Given the description of an element on the screen output the (x, y) to click on. 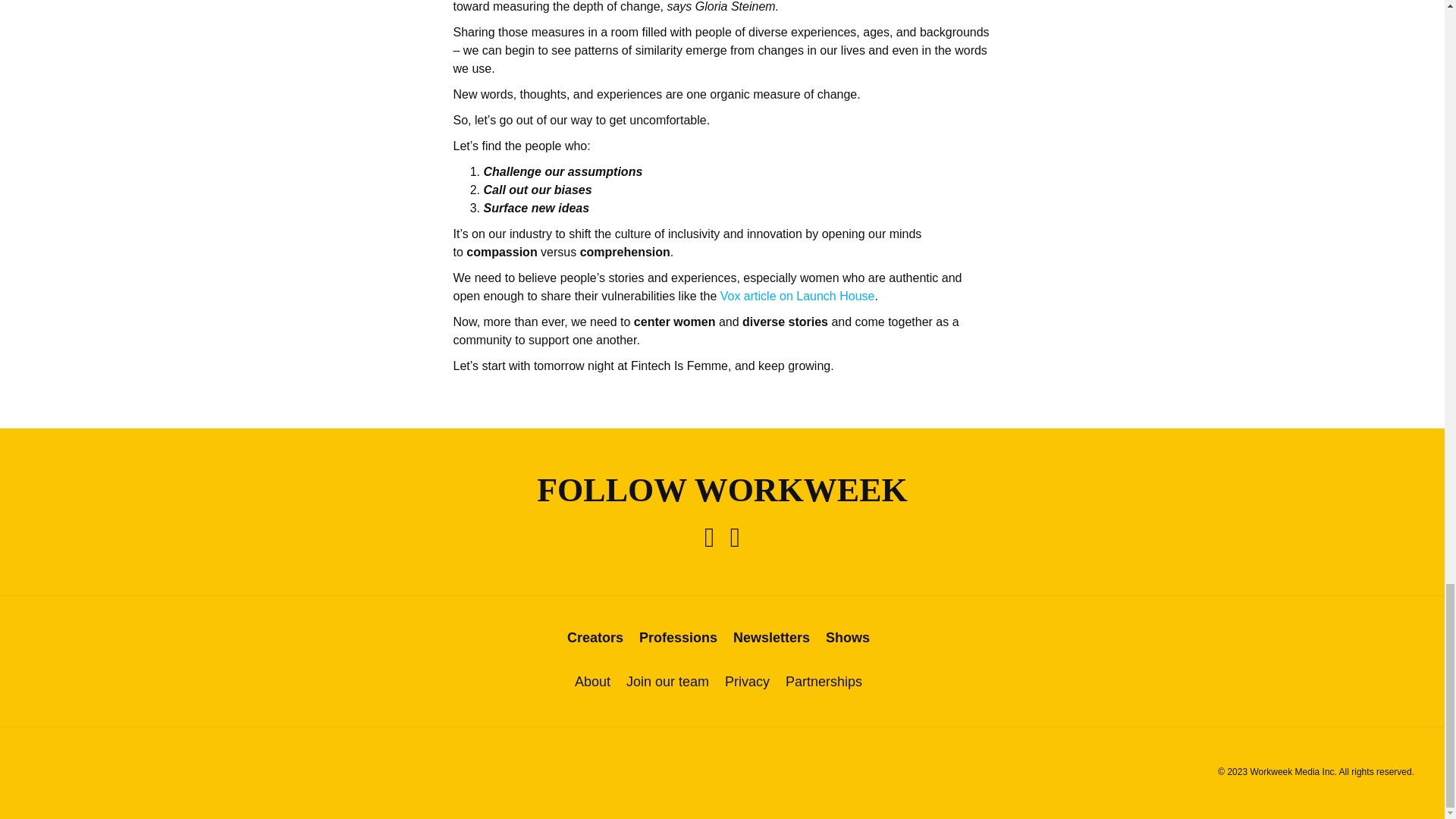
Partnerships (823, 681)
Vox article on Launch House (797, 295)
About (592, 681)
Privacy (747, 681)
w-dark (722, 772)
Newsletters (771, 637)
Professions (678, 637)
Shows (847, 637)
Creators (595, 637)
Join our team (667, 681)
